Given the description of an element on the screen output the (x, y) to click on. 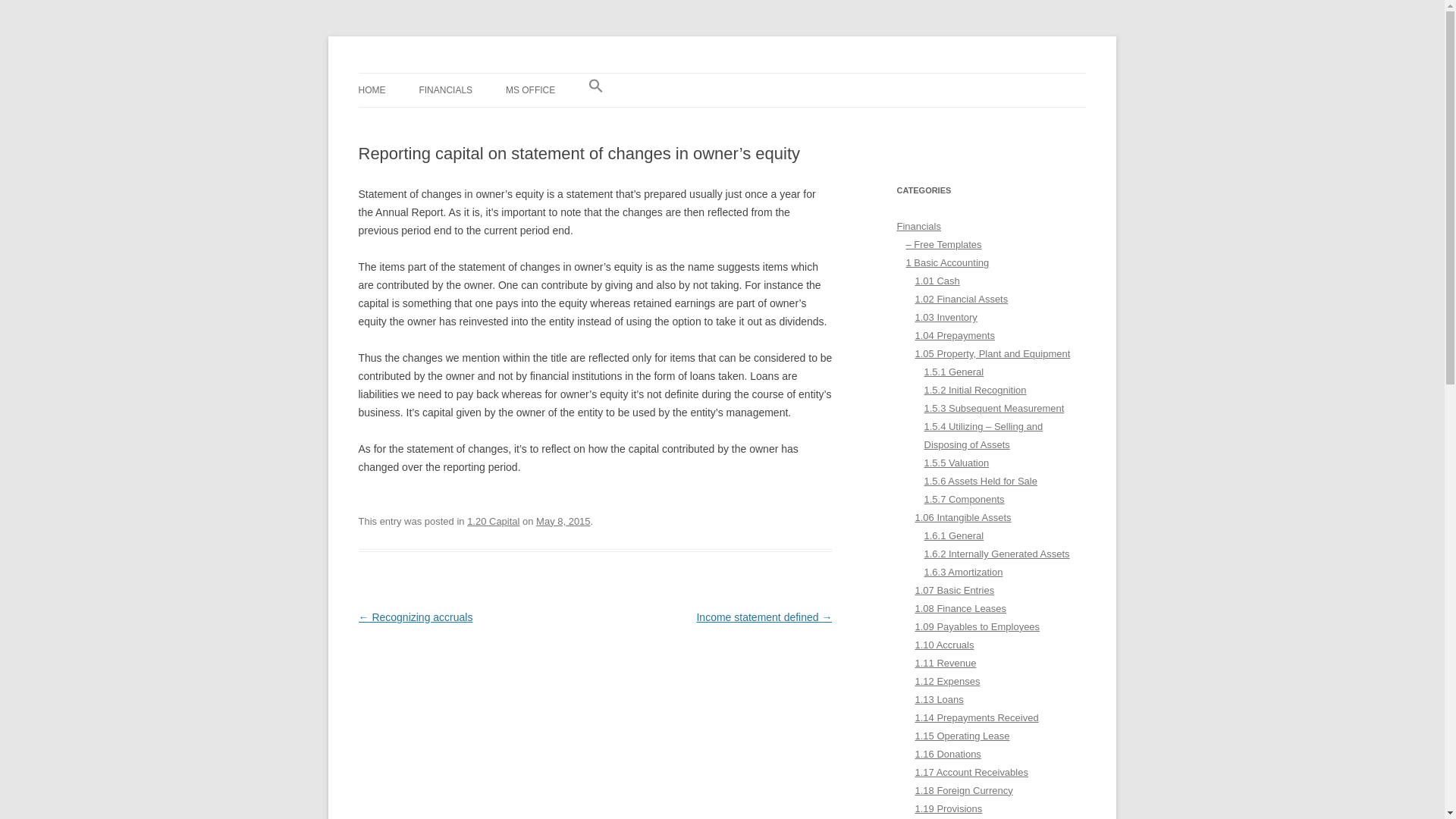
FINANCIALS (445, 90)
Office ToDo (412, 72)
Office ToDo (412, 72)
5:52 am (562, 521)
